Given the description of an element on the screen output the (x, y) to click on. 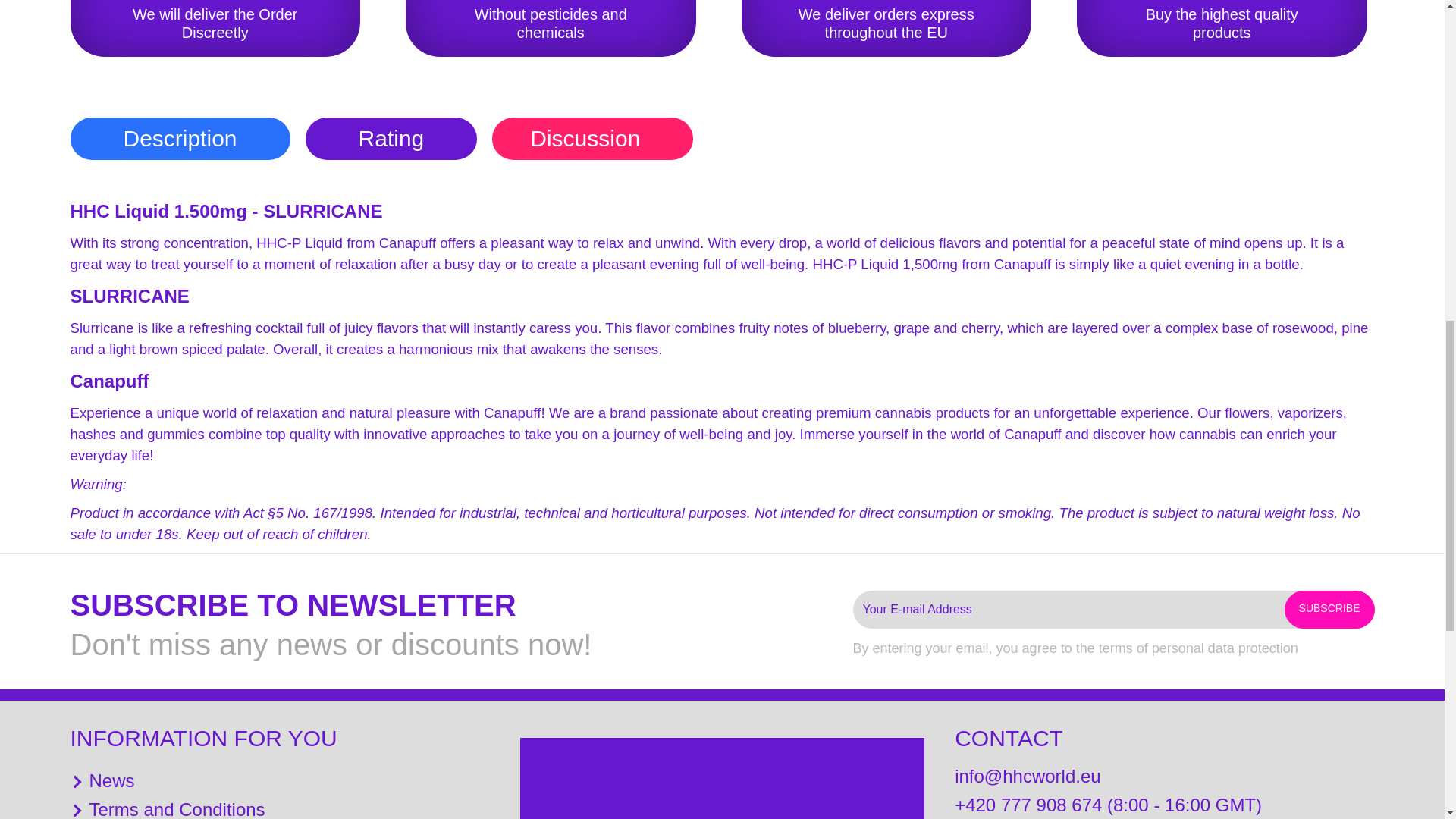
Phone (1108, 805)
